Given the description of an element on the screen output the (x, y) to click on. 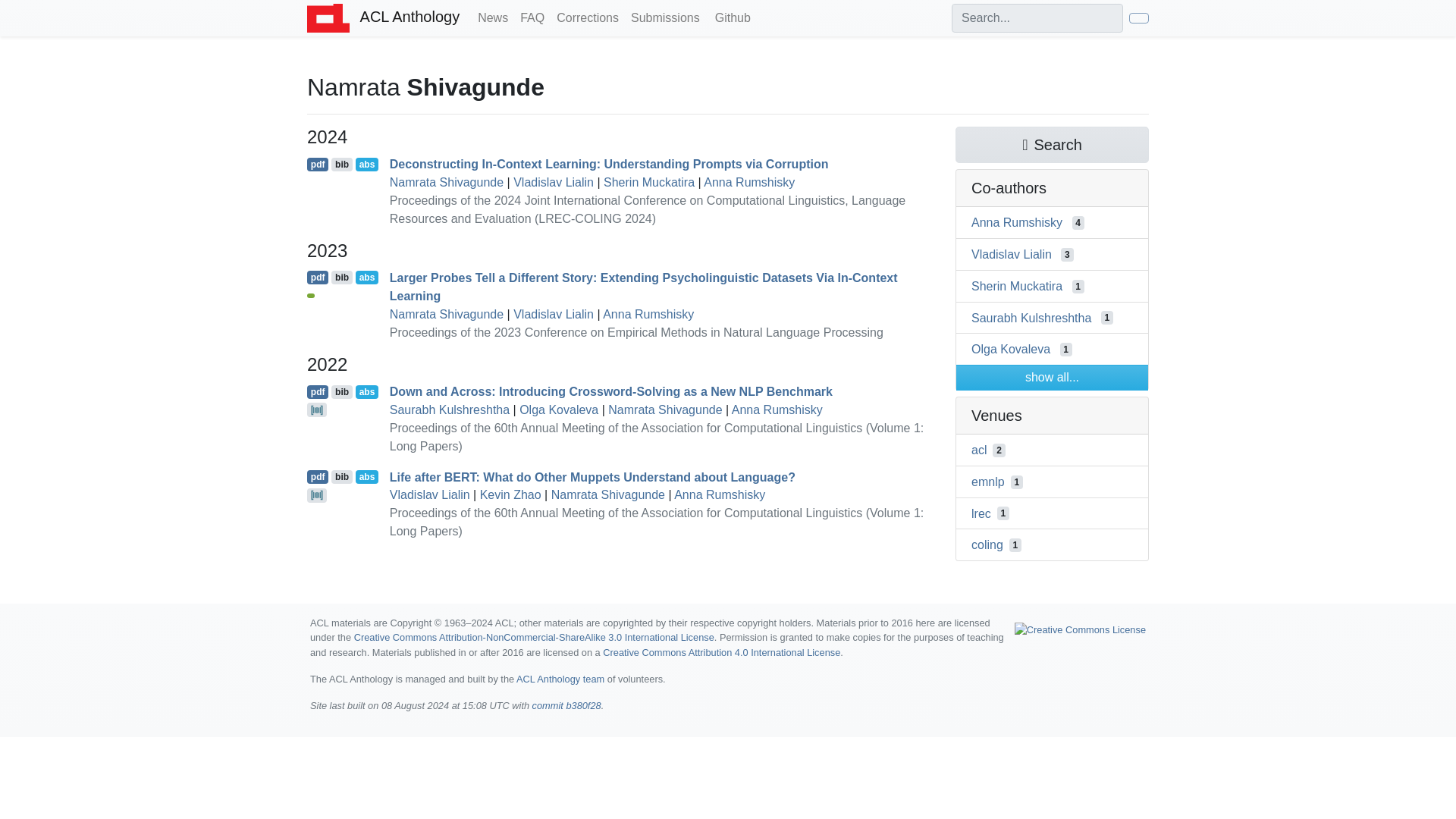
Show Abstract (366, 164)
Namrata Shivagunde (665, 409)
Namrata Shivagunde (446, 182)
Sherin Muckatira (649, 182)
Code (316, 409)
bib (341, 277)
Search for 'Namrata Shivagunde' on Semantic Scholar (1051, 144)
Anna Rumshisky (777, 409)
Vladislav Lialin (553, 314)
